Given the description of an element on the screen output the (x, y) to click on. 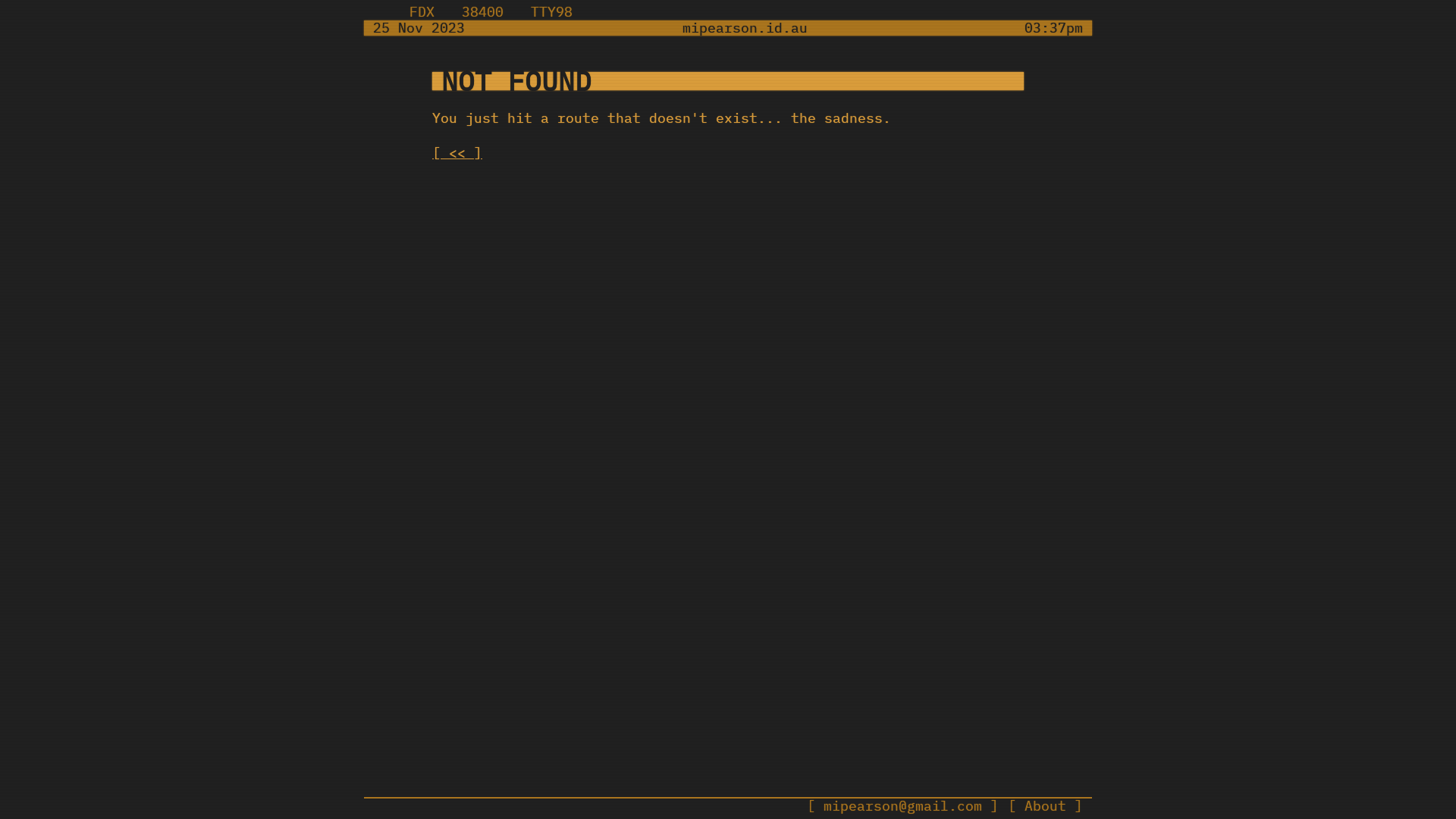
About Element type: text (1044, 806)
<< Element type: text (457, 152)
mipearson@gmail.com Element type: text (902, 806)
